Given the description of an element on the screen output the (x, y) to click on. 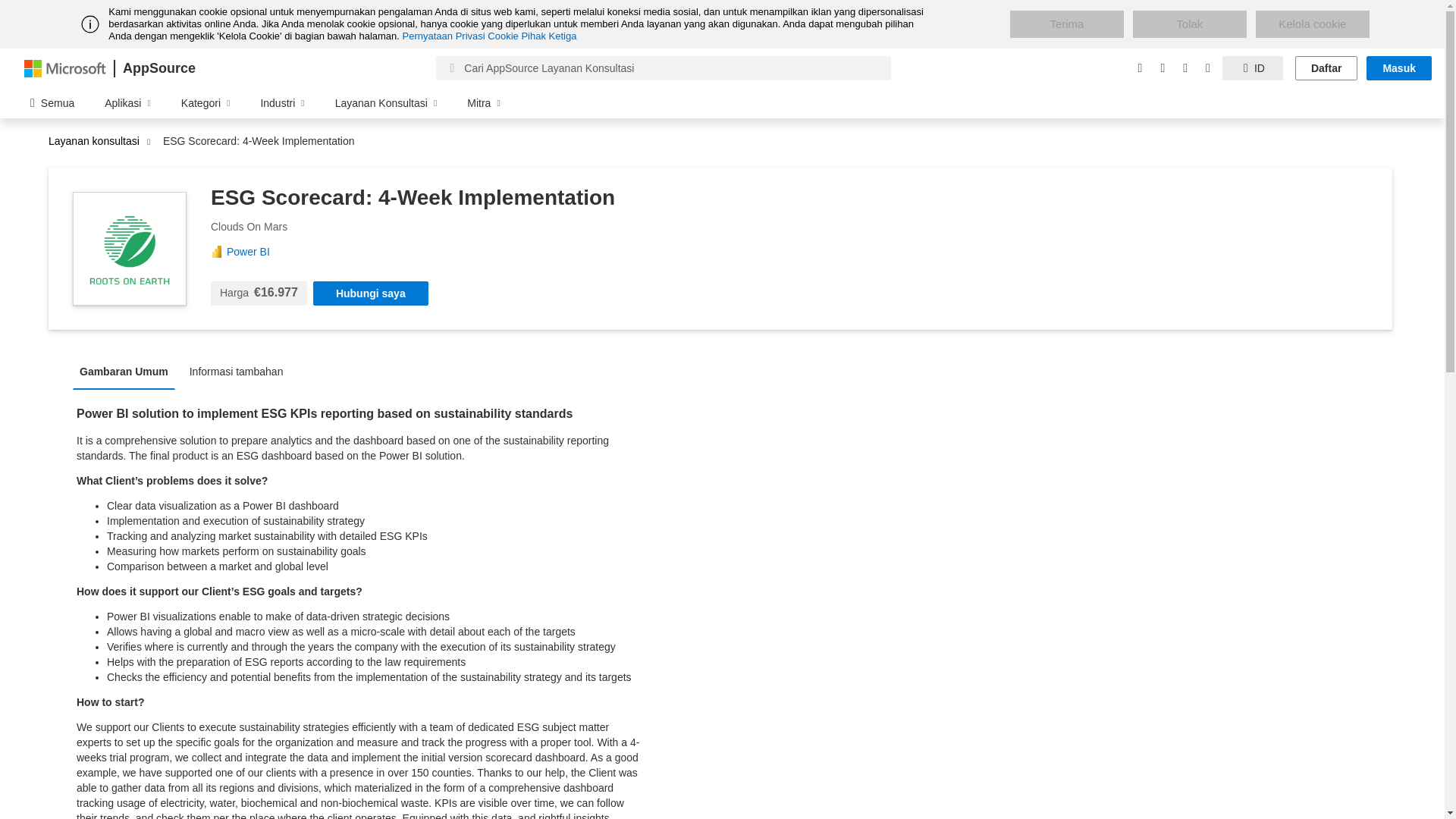
Hubungi saya (370, 293)
Masuk (1399, 68)
Terima (1067, 23)
Power BI (254, 251)
Gambaran Umum (127, 370)
Cookie Pihak Ketiga (531, 35)
Pernyataan Privasi (443, 35)
Daftar (1325, 68)
AppSource (158, 67)
Kelola cookie (1312, 23)
Power BI (254, 251)
Informasi tambahan (240, 370)
Layanan konsultasi (97, 141)
Tolak (1189, 23)
Microsoft (65, 67)
